Given the description of an element on the screen output the (x, y) to click on. 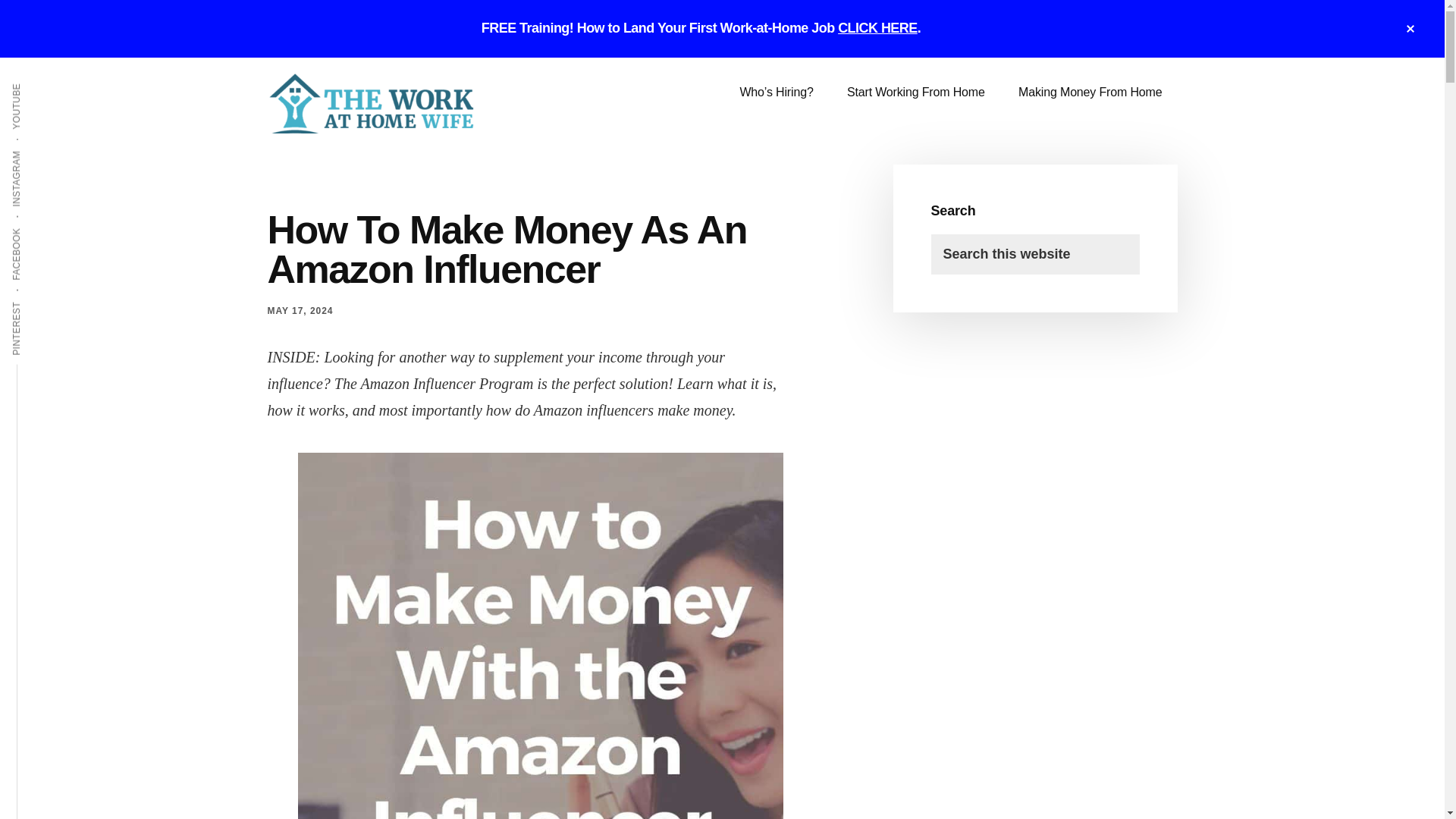
CLICK HERE (877, 28)
PINTEREST (44, 300)
Making Money From Home (1089, 92)
INSTAGRAM (45, 149)
FACEBOOK (44, 227)
YOUTUBE (41, 82)
Start Working From Home (915, 92)
